Given the description of an element on the screen output the (x, y) to click on. 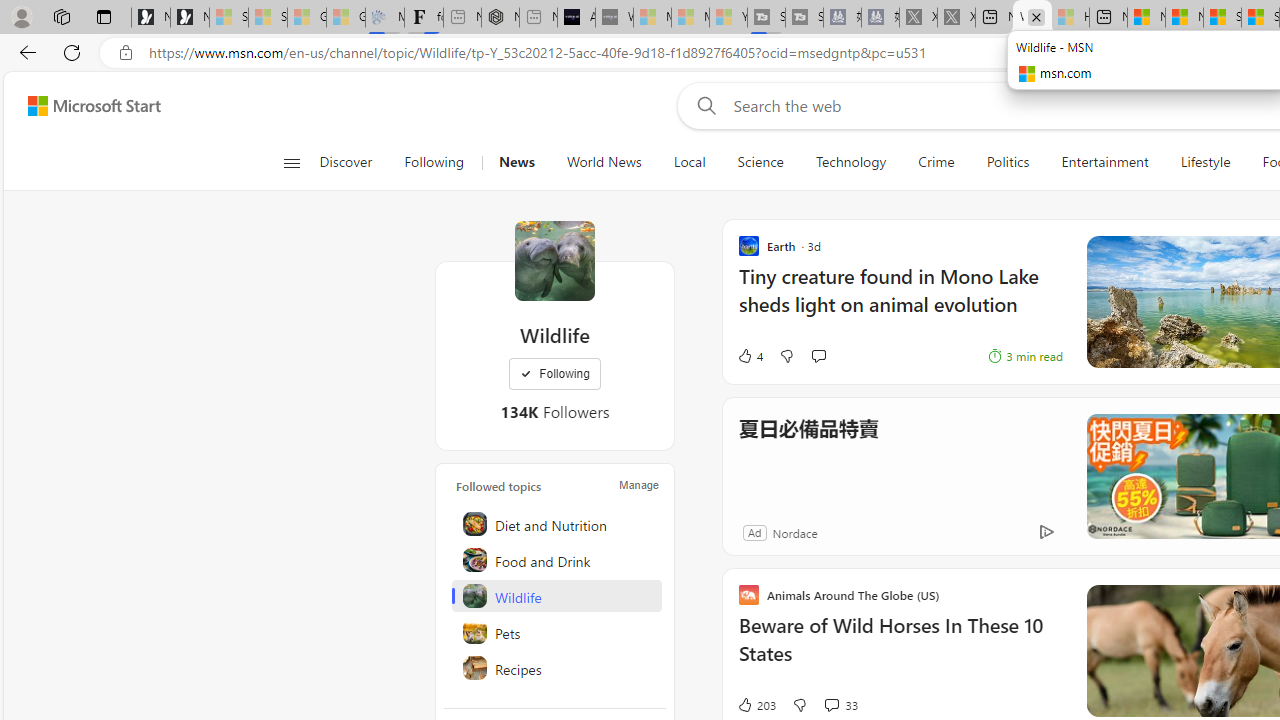
World News (603, 162)
Crime (936, 162)
Entertainment (1105, 162)
Newsletter Sign Up (189, 17)
Open navigation menu (291, 162)
Technology (851, 162)
